Given the description of an element on the screen output the (x, y) to click on. 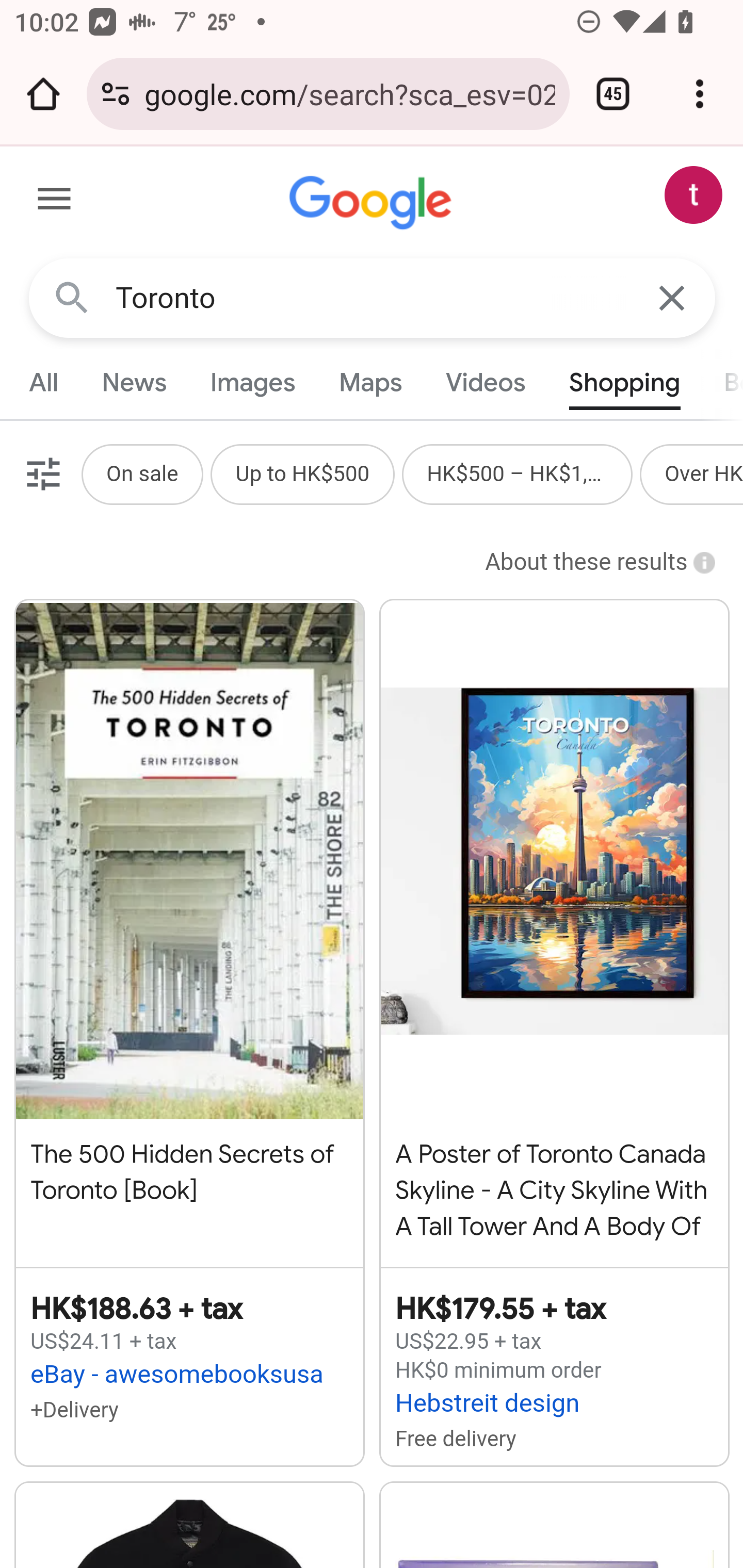
Open the home page (43, 93)
Connection is secure (115, 93)
Switch or close tabs (612, 93)
Customize and control Google Chrome (699, 93)
Main menu (54, 202)
Google (372, 203)
Google Search (71, 296)
Clear Search (672, 296)
Toronto (372, 297)
All (43, 382)
News (134, 382)
Images (252, 382)
Maps (369, 382)
Videos (485, 382)
Filters.0 filters applied. (41, 473)
On sale (141, 473)
Up to HK$500 (302, 473)
HK$500 – HK$1,500 (517, 473)
Over HK$1,500 (703, 473)
The 500 Hidden Secrets of Toronto [Book] (189, 921)
